Given the description of an element on the screen output the (x, y) to click on. 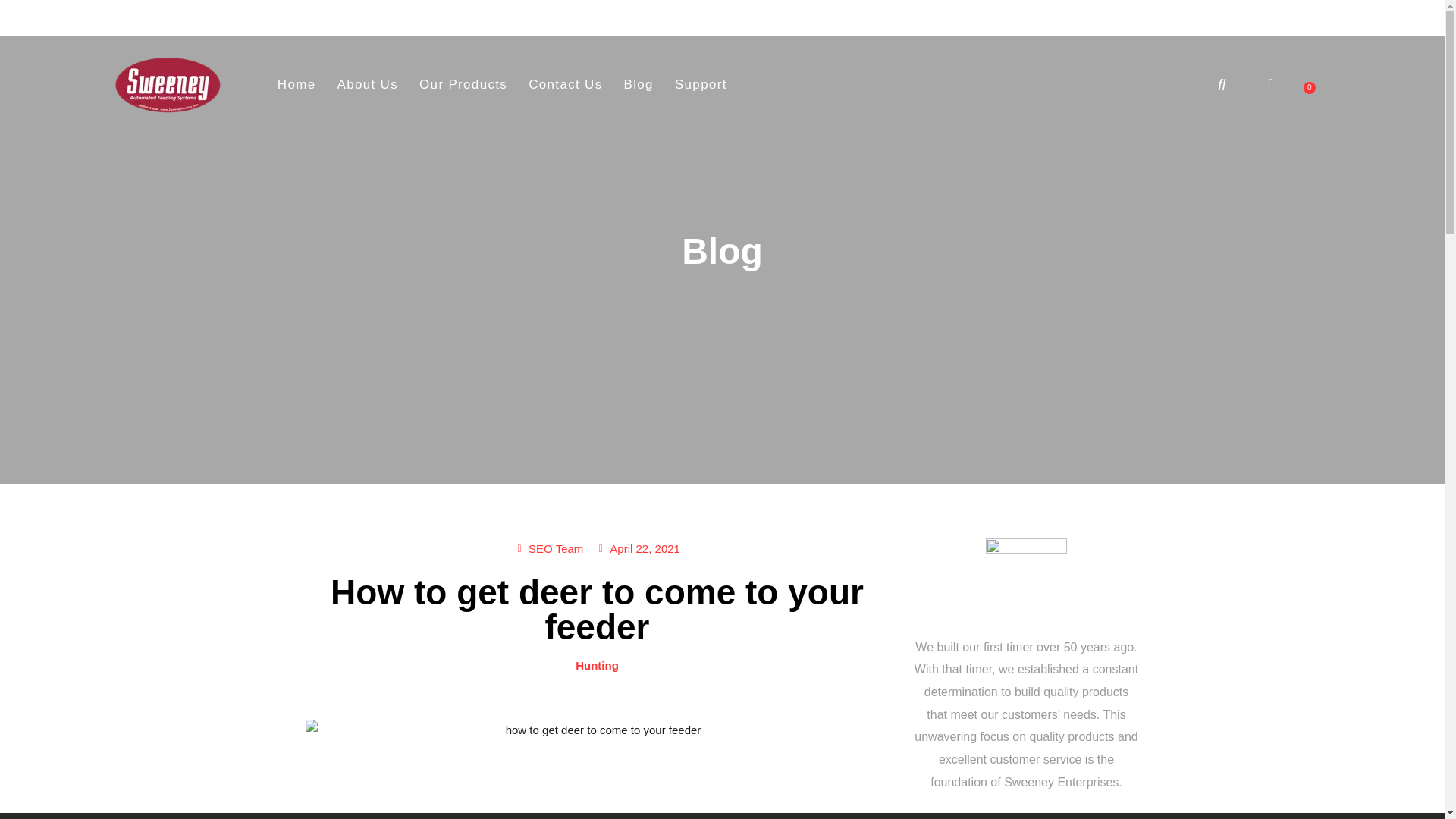
SEO Team (548, 548)
Blog (638, 84)
Home (295, 84)
April 22, 2021 (637, 548)
Our Products (1308, 87)
Support (463, 84)
About Us (700, 84)
Contact Us (367, 84)
